Given the description of an element on the screen output the (x, y) to click on. 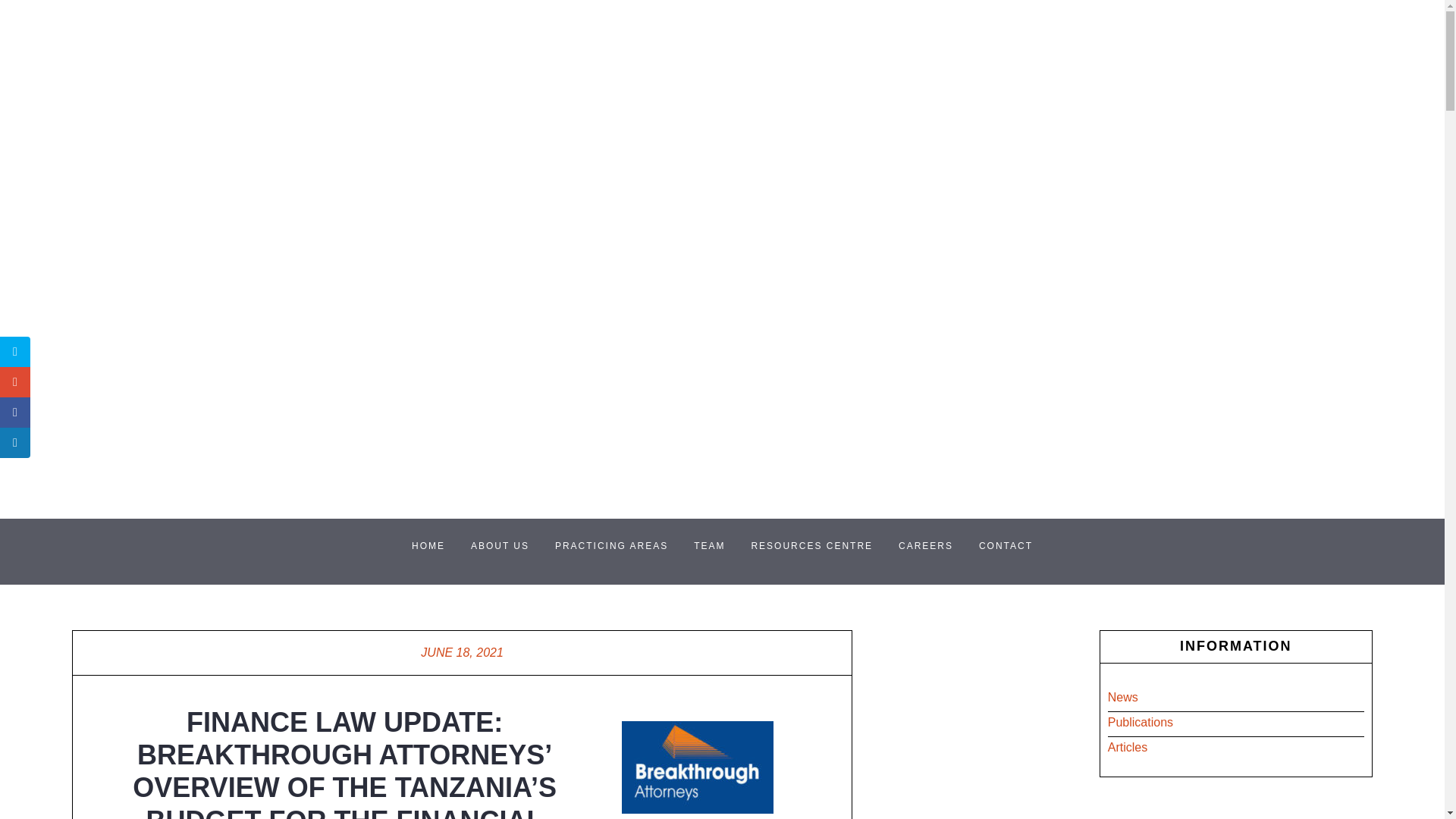
RESOURCES CENTRE (811, 545)
CONTACT (1005, 545)
TEAM (709, 545)
Publications (1140, 721)
ABOUT US (500, 545)
News (1123, 697)
HOME (428, 545)
PRACTICING AREAS (611, 545)
CAREERS (924, 545)
Articles (1127, 747)
